Given the description of an element on the screen output the (x, y) to click on. 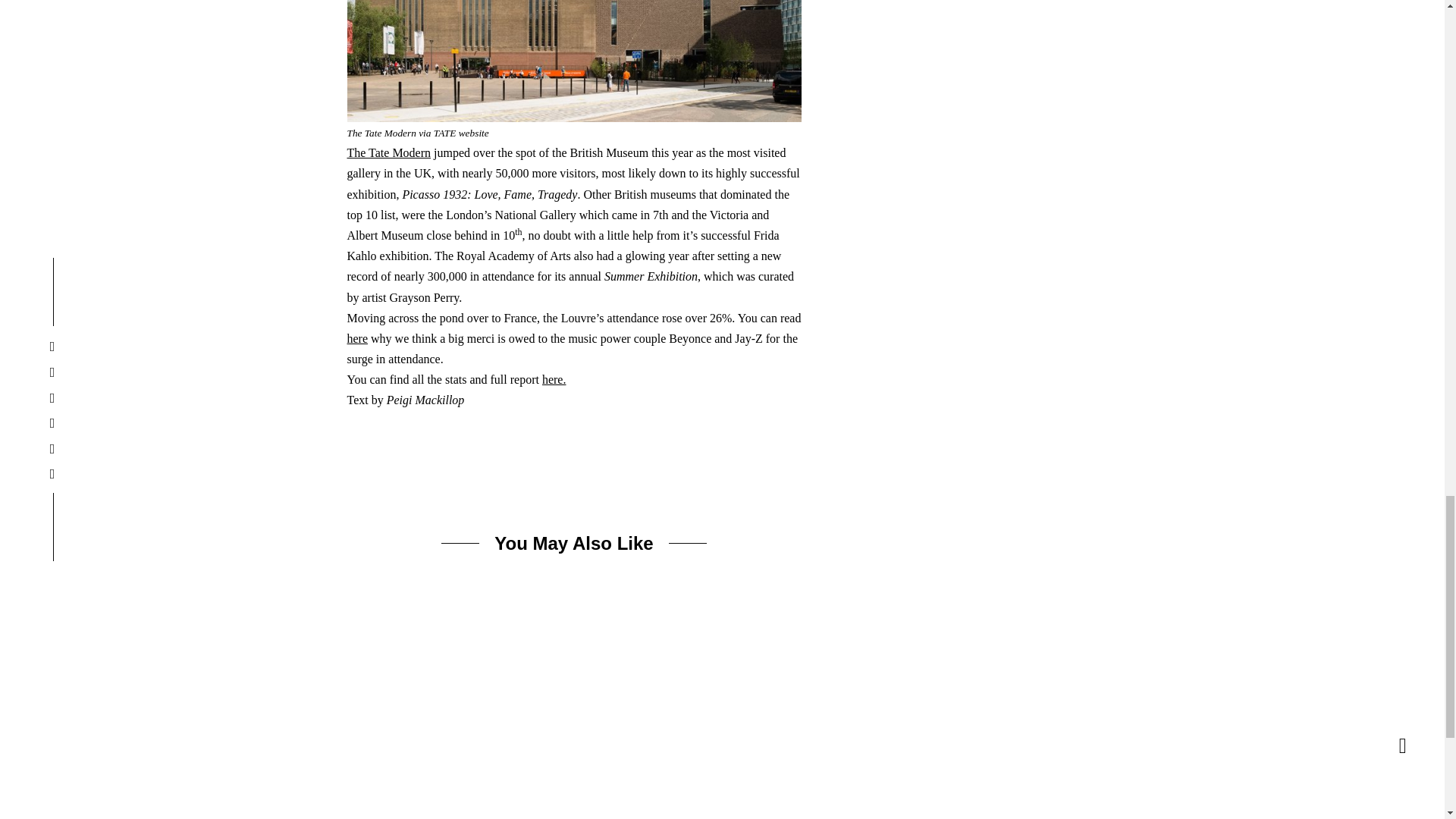
here (357, 338)
The Tate Modern (388, 152)
here. (553, 379)
